Given the description of an element on the screen output the (x, y) to click on. 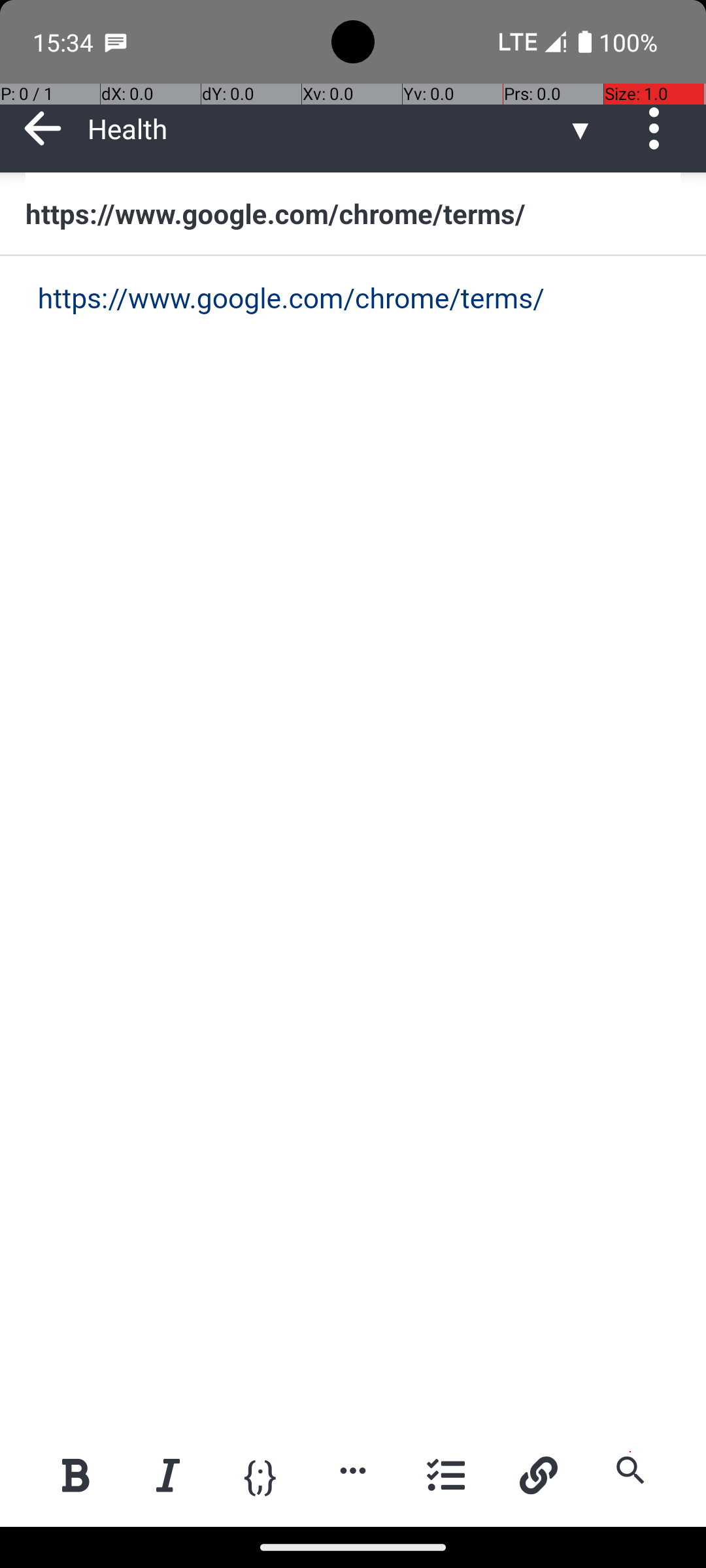
SMS Messenger notification: +15505050843 Element type: android.widget.ImageView (115, 41)
